Given the description of an element on the screen output the (x, y) to click on. 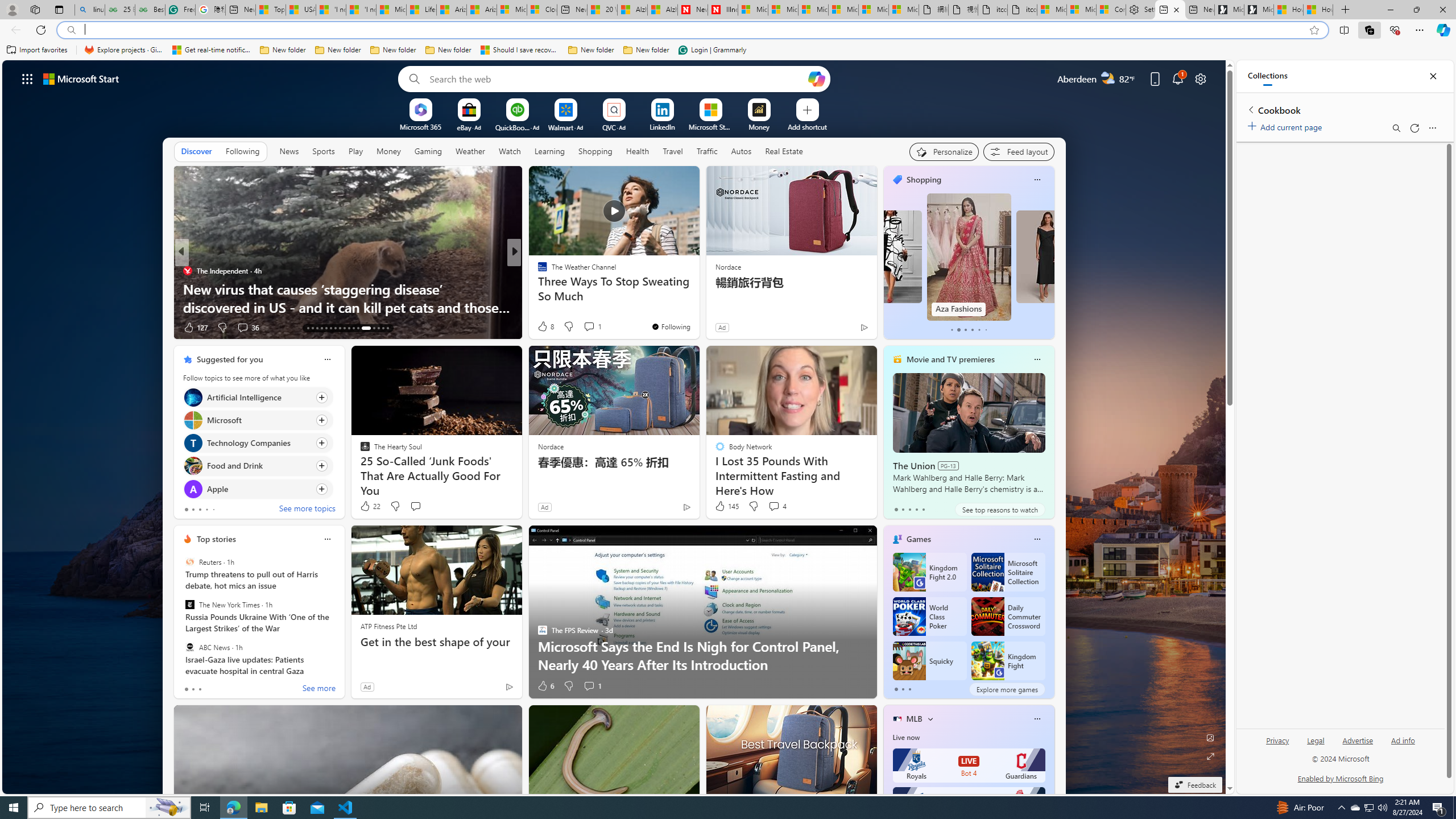
USA TODAY - MSN (300, 9)
Class: sd-card-game-item-img-inner (987, 660)
Body Network (537, 288)
ABC News (189, 646)
Edit Background (1210, 737)
Partly cloudy (1107, 78)
